Given the description of an element on the screen output the (x, y) to click on. 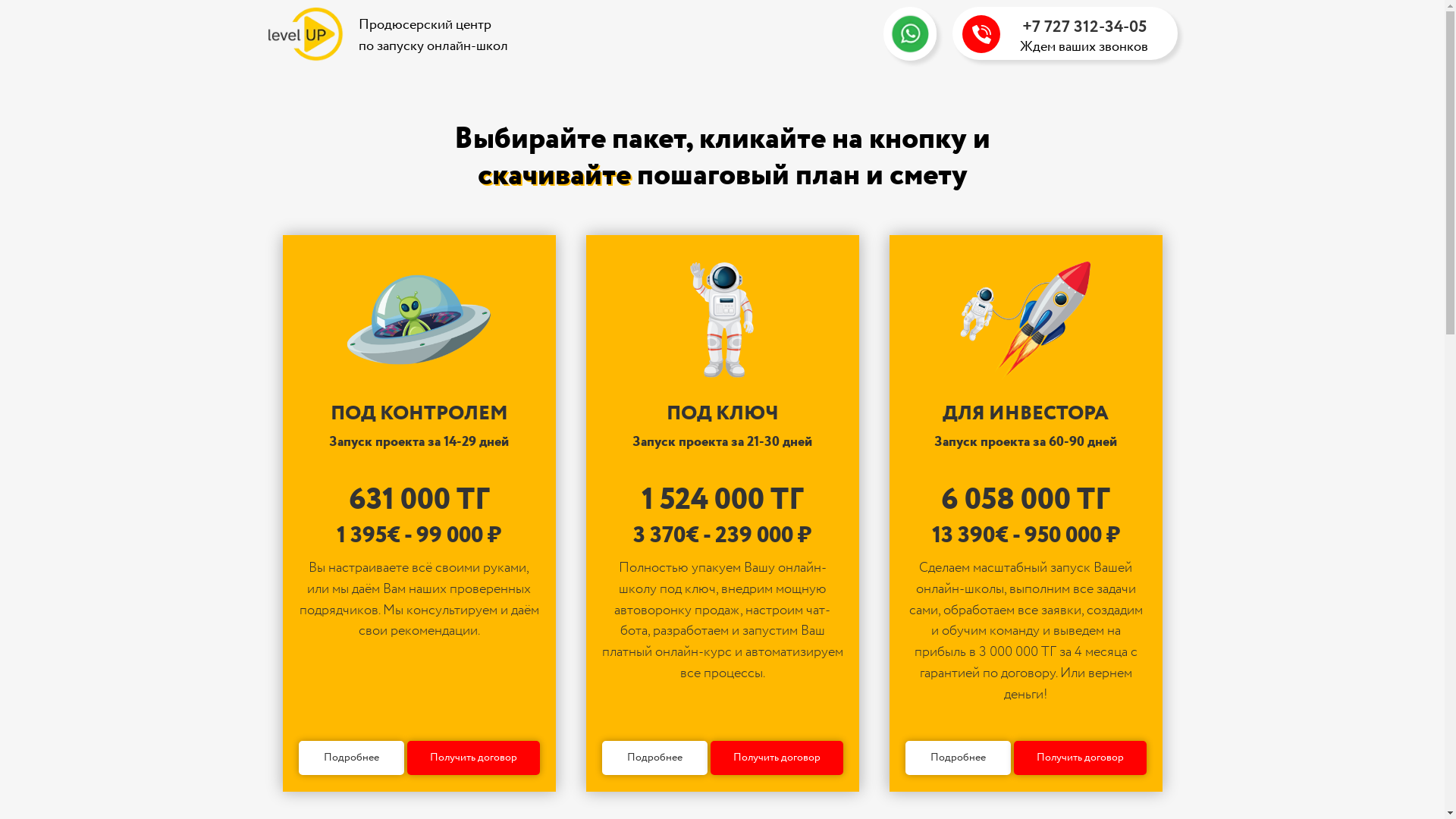
+7 727 312-34-05 Element type: text (1084, 27)
